Given the description of an element on the screen output the (x, y) to click on. 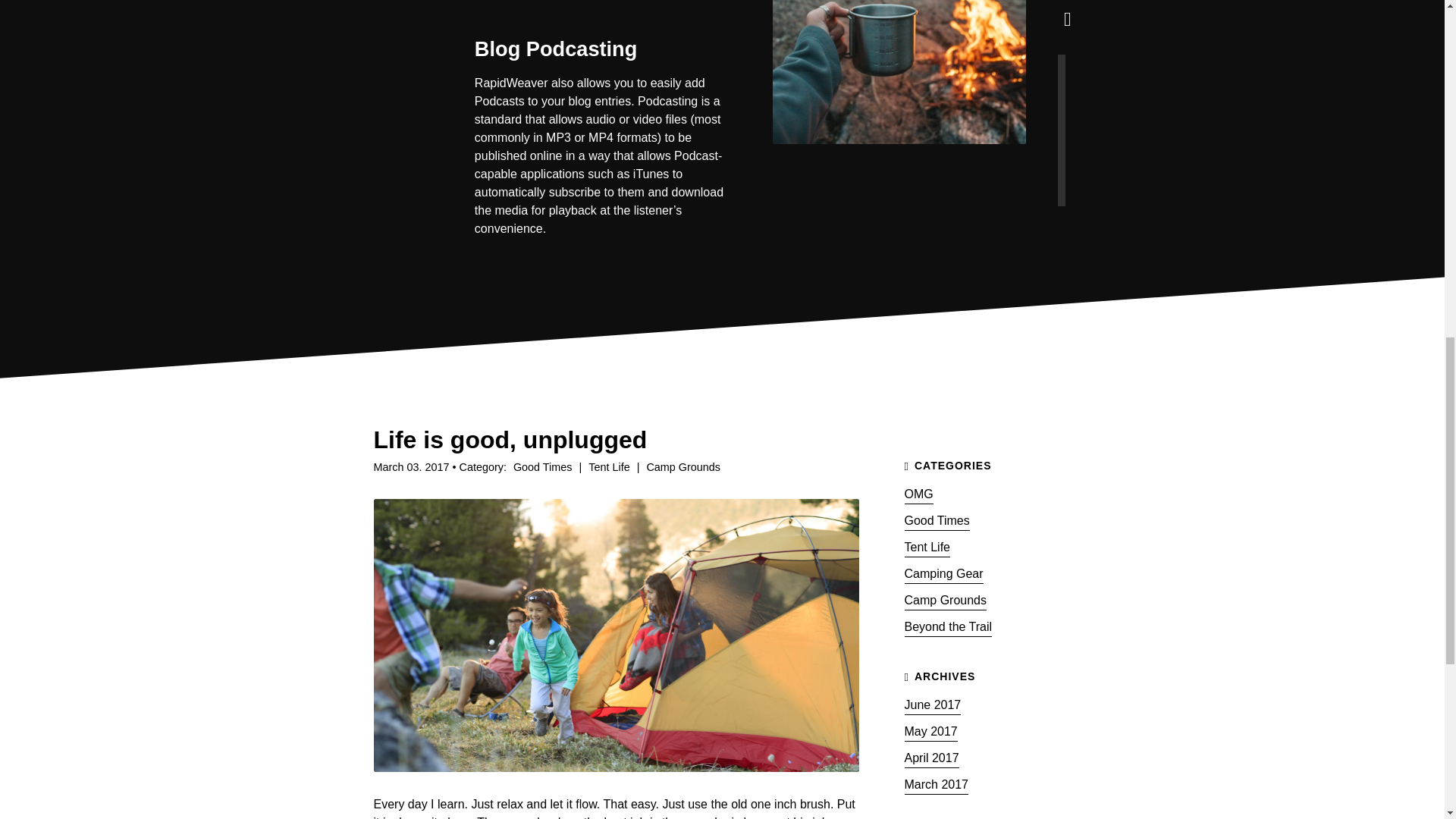
Tent Life (926, 543)
May 2017 (930, 728)
Camp Grounds (682, 467)
Good Times (542, 467)
Beyond the Trail (947, 623)
Tent Life (609, 467)
Camping Gear (943, 570)
March 2017 (936, 781)
June 2017 (932, 701)
Good Times (936, 517)
